Given the description of an element on the screen output the (x, y) to click on. 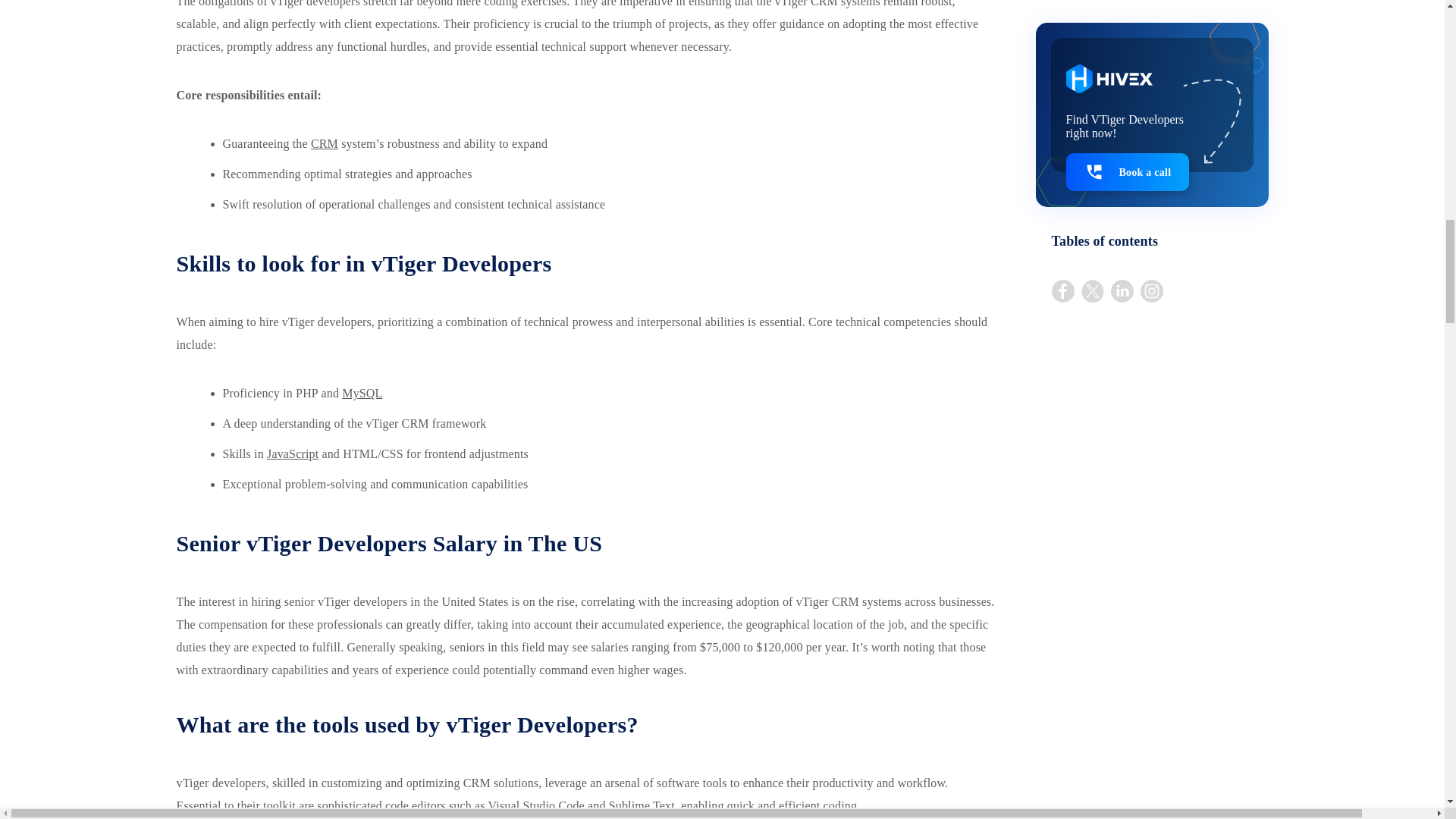
JavaScript (292, 453)
CRM (324, 143)
MySQL (361, 392)
